Given the description of an element on the screen output the (x, y) to click on. 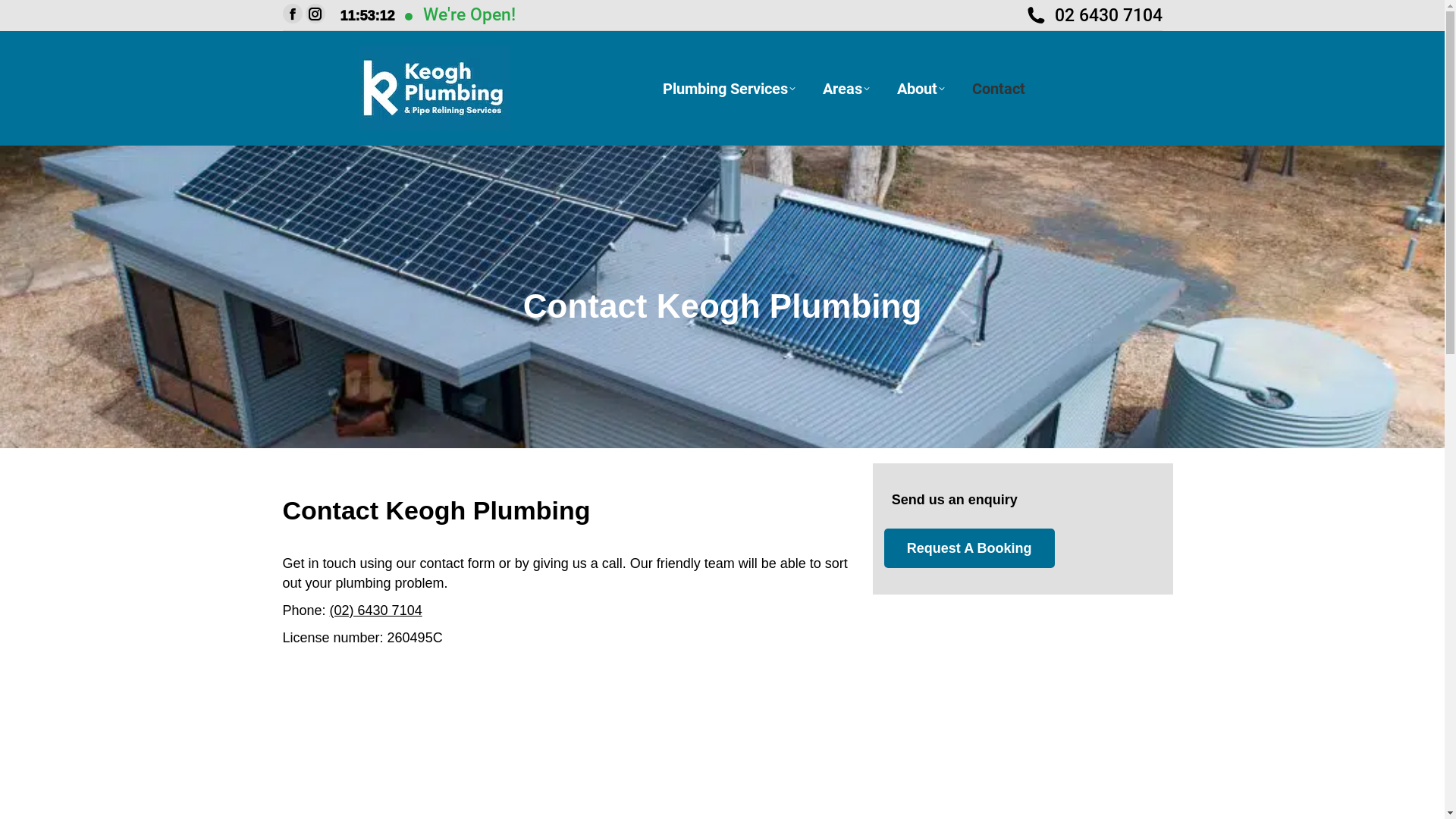
Areas Element type: text (845, 87)
(02) 6430 7104 Element type: text (375, 610)
Instagram page opens in new window Element type: text (314, 13)
About Element type: text (920, 87)
Plumbing Services Element type: text (728, 87)
Request A Booking Element type: text (969, 547)
Contact Element type: text (998, 87)
02 6430 7104 Element type: text (1092, 15)
Facebook page opens in new window Element type: text (291, 13)
